Given the description of an element on the screen output the (x, y) to click on. 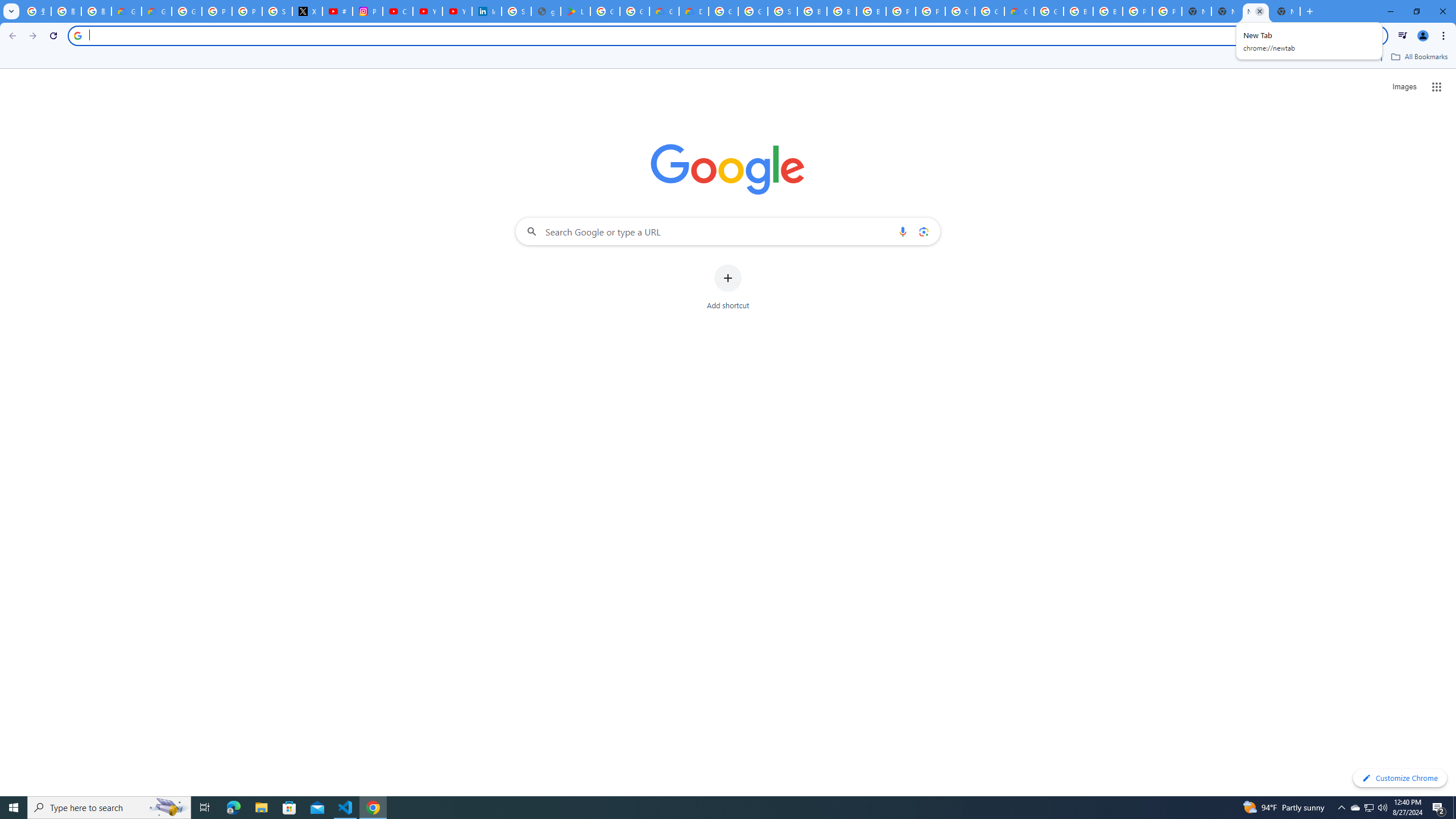
Google Cloud Platform (723, 11)
Google Cloud Platform (1048, 11)
X (306, 11)
#nbabasketballhighlights - YouTube (337, 11)
